Given the description of an element on the screen output the (x, y) to click on. 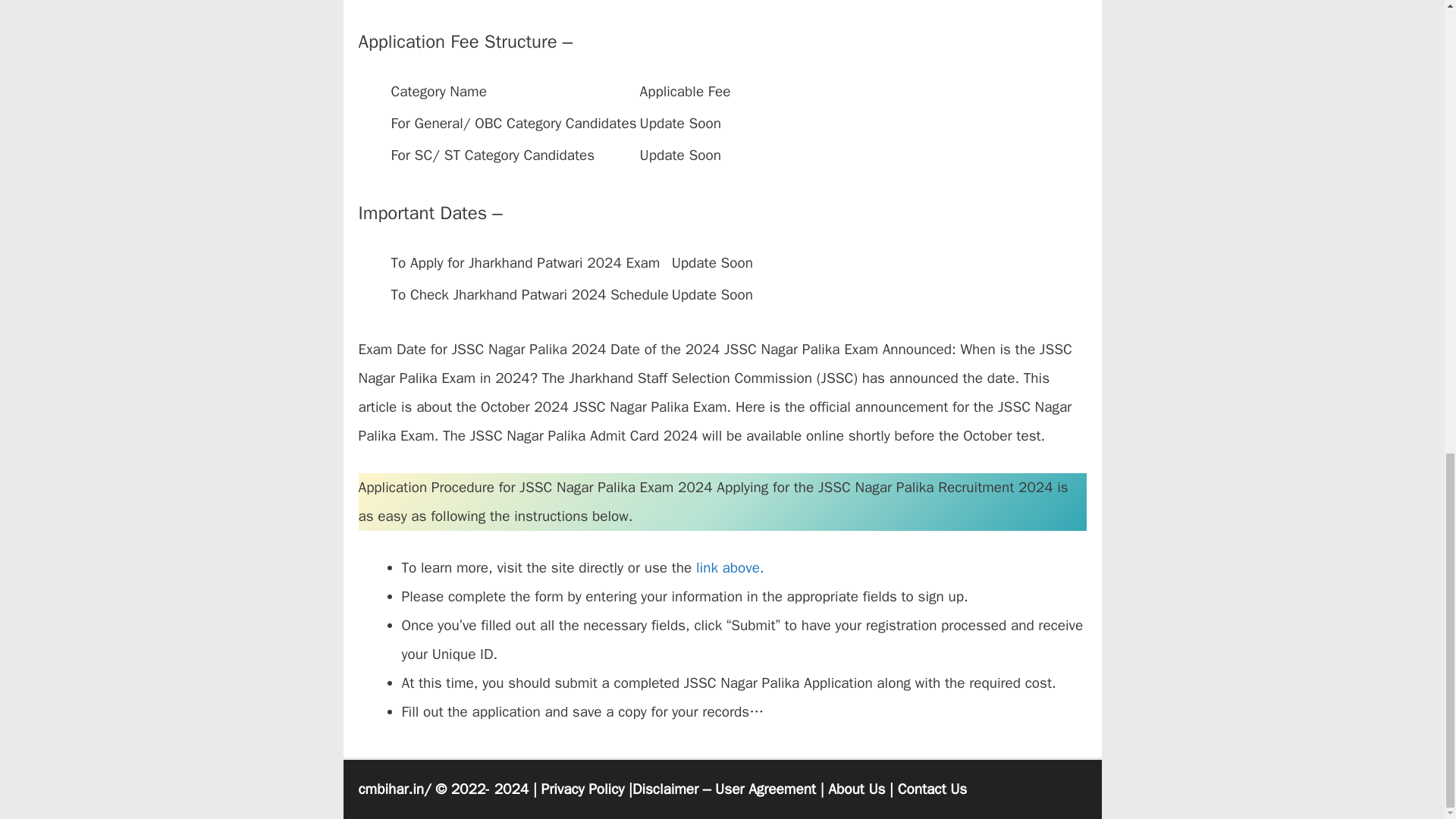
link above. (729, 567)
Privacy Policy (582, 789)
Contact Us (932, 789)
About Us (856, 789)
